Given the description of an element on the screen output the (x, y) to click on. 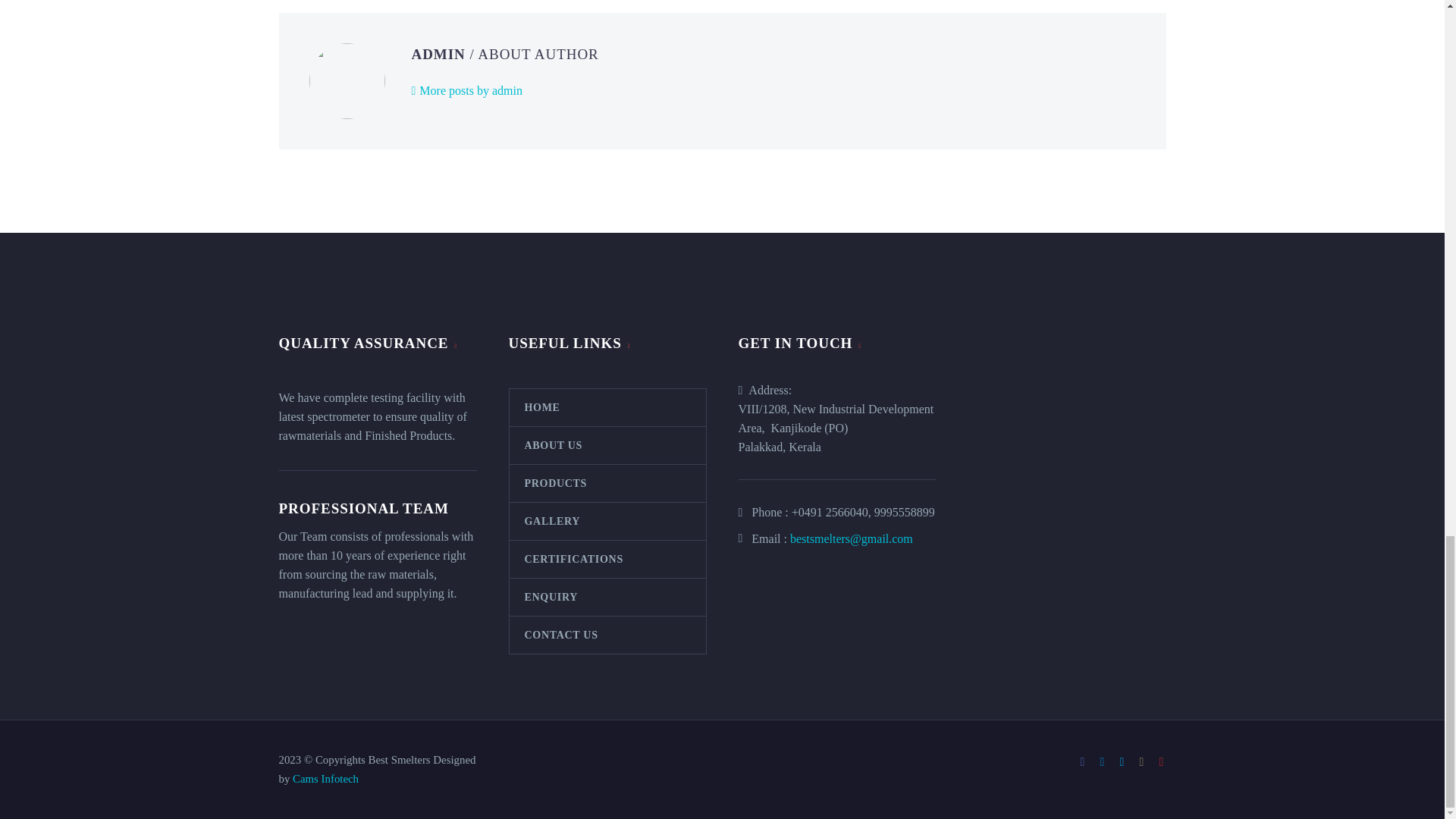
CERTIFICATIONS (607, 559)
GALLERY (607, 520)
LinkedIn (1102, 761)
ENQUIRY (607, 596)
CONTACT US (607, 634)
More posts by admin (465, 90)
Facebook (1083, 761)
PRODUCTS (607, 483)
ABOUT US (607, 445)
HOME (607, 407)
